Given the description of an element on the screen output the (x, y) to click on. 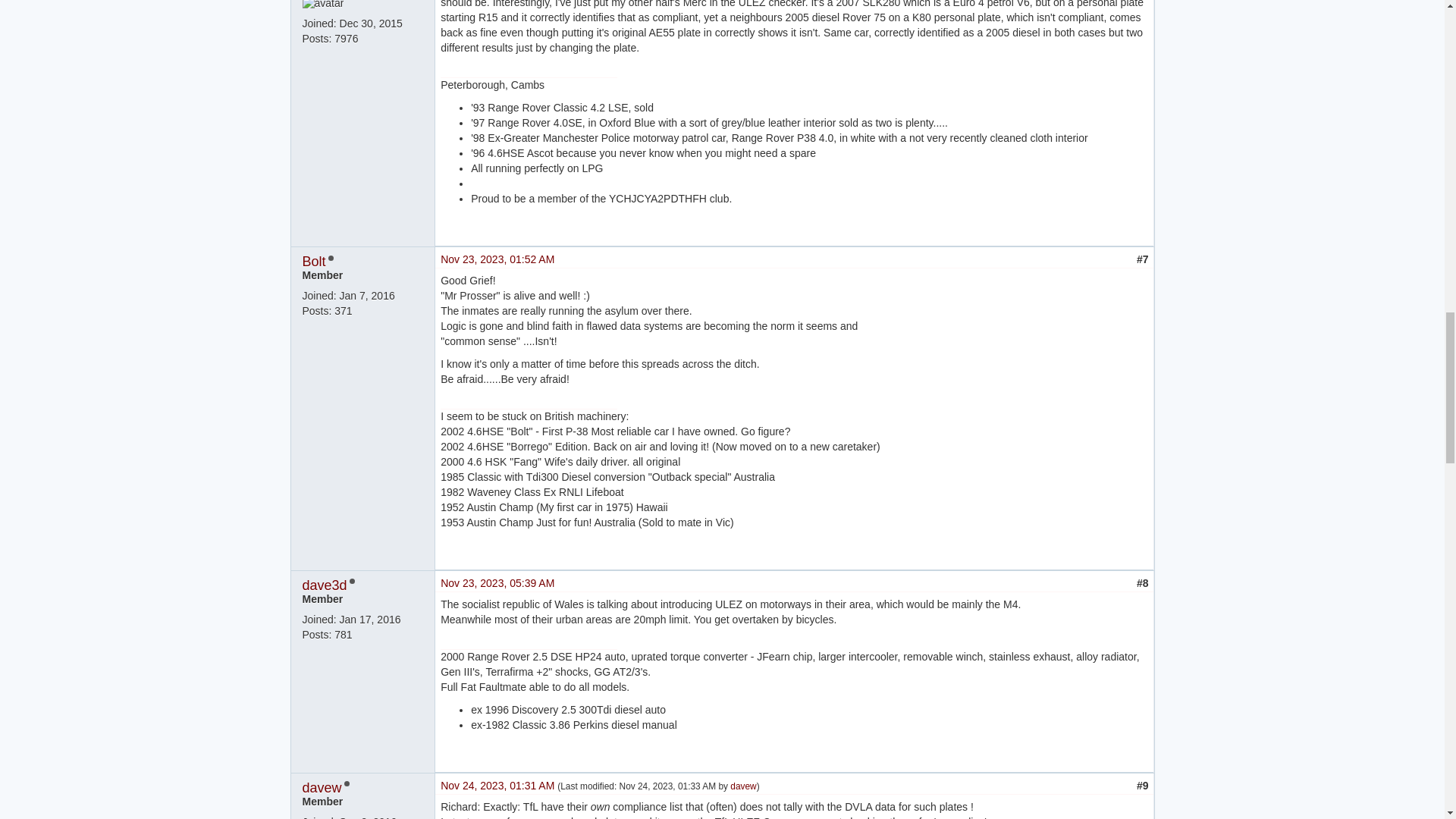
dave3d (323, 585)
Nov 24, 2023, 01:31 AM (499, 785)
Bolt (312, 261)
davew (320, 787)
Nov 23, 2023, 05:39 AM (497, 582)
davew (742, 786)
Nov 23, 2023, 01:52 AM (497, 259)
